Given the description of an element on the screen output the (x, y) to click on. 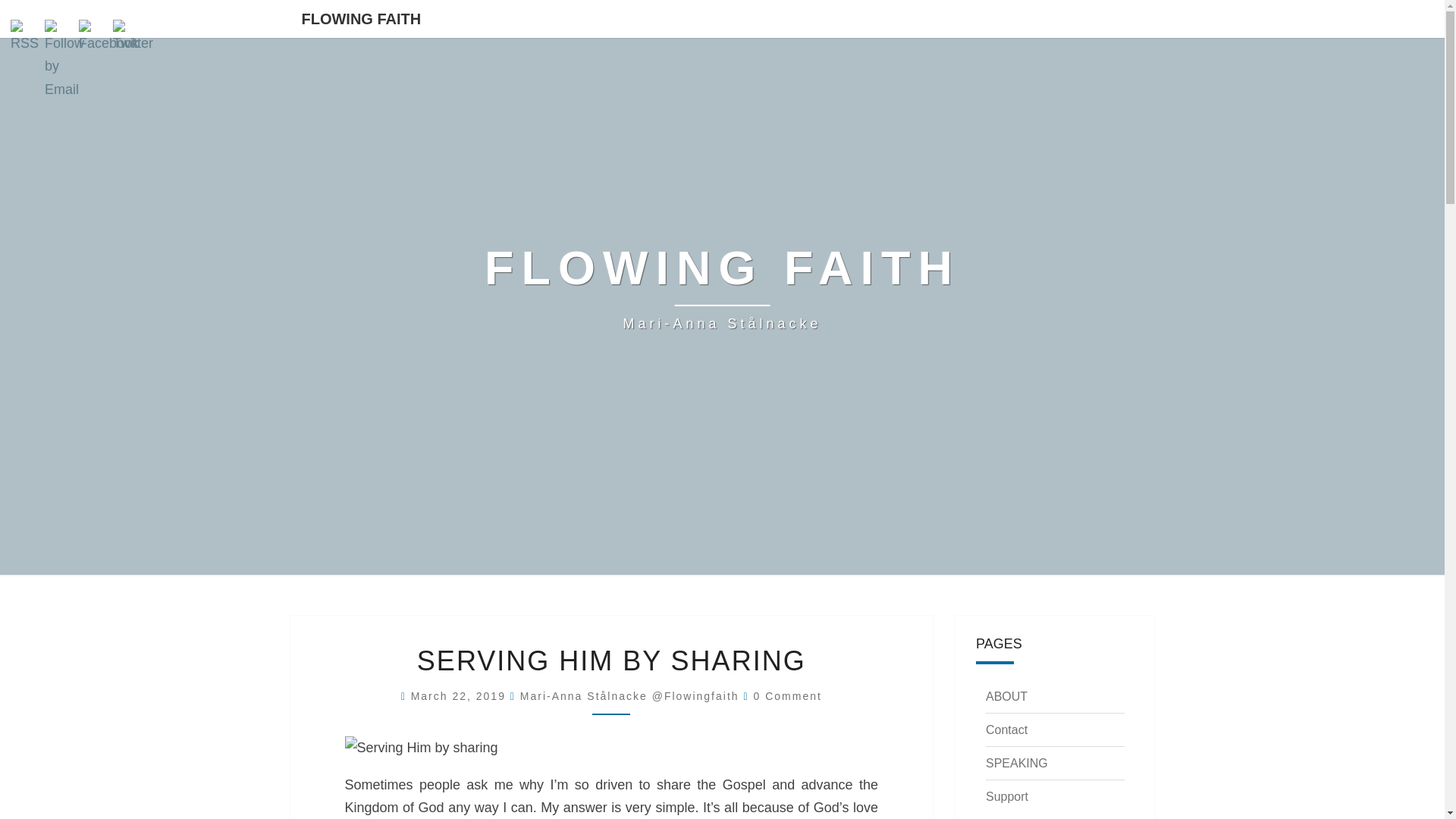
Facebook (108, 37)
Twitter (132, 37)
SPEAKING (1016, 762)
FLOWING FAITH (360, 18)
0 Comment (788, 695)
Contact (1006, 729)
ABOUT (1006, 696)
RSS (26, 37)
4:02 pm (460, 695)
March 22, 2019 (460, 695)
